Given the description of an element on the screen output the (x, y) to click on. 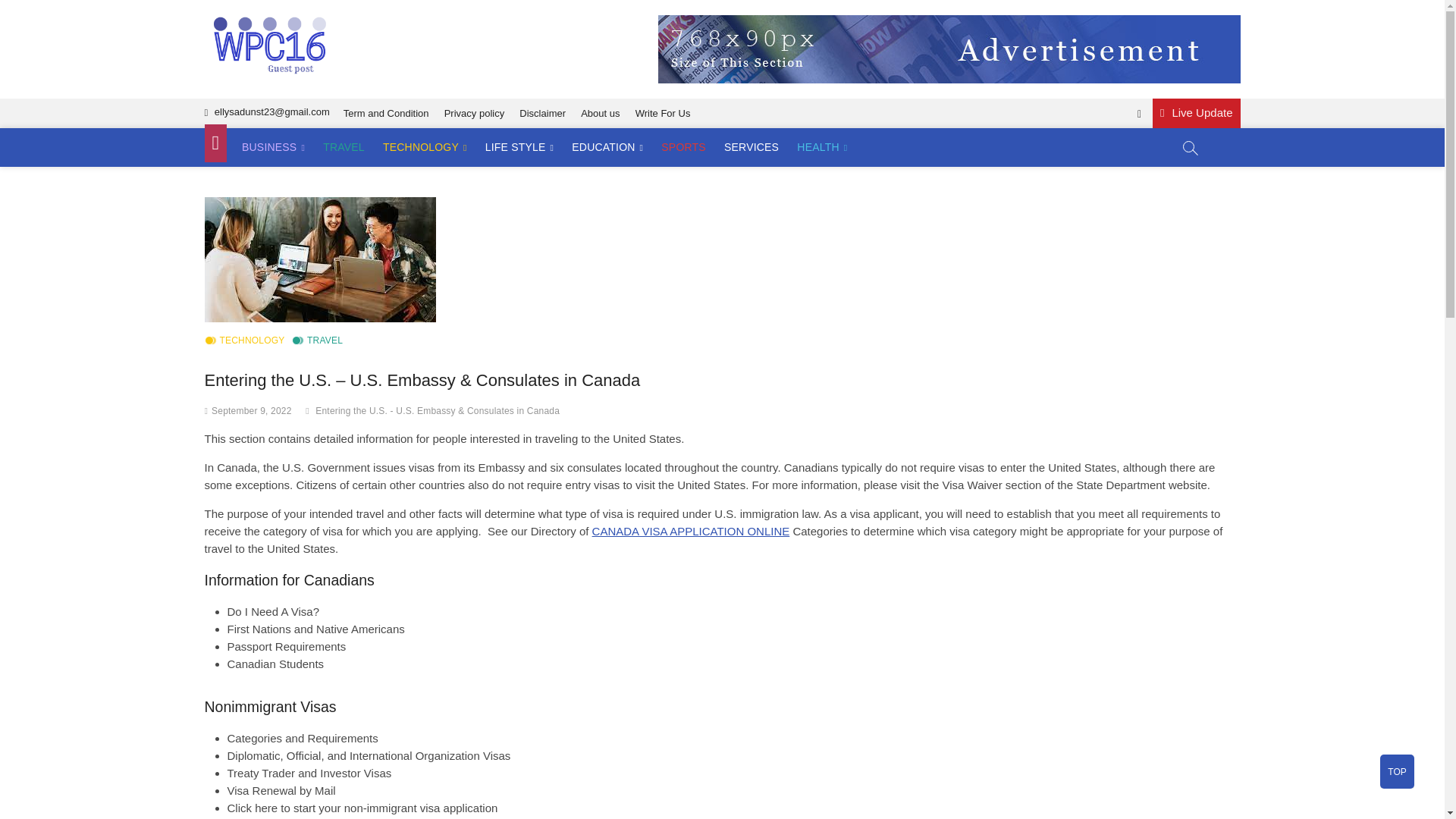
facebook (1139, 113)
WPC16 (374, 42)
Mail Us (267, 111)
LIFE STYLE (518, 147)
TECHNOLOGY (424, 147)
SERVICES (751, 146)
HEALTH (821, 147)
Term and Condition (386, 112)
SPORTS (683, 146)
Disclaimer (542, 112)
Write For Us (662, 112)
Live Update (1196, 112)
EDUCATION (607, 147)
WPC16 (374, 42)
TRAVEL (343, 146)
